Given the description of an element on the screen output the (x, y) to click on. 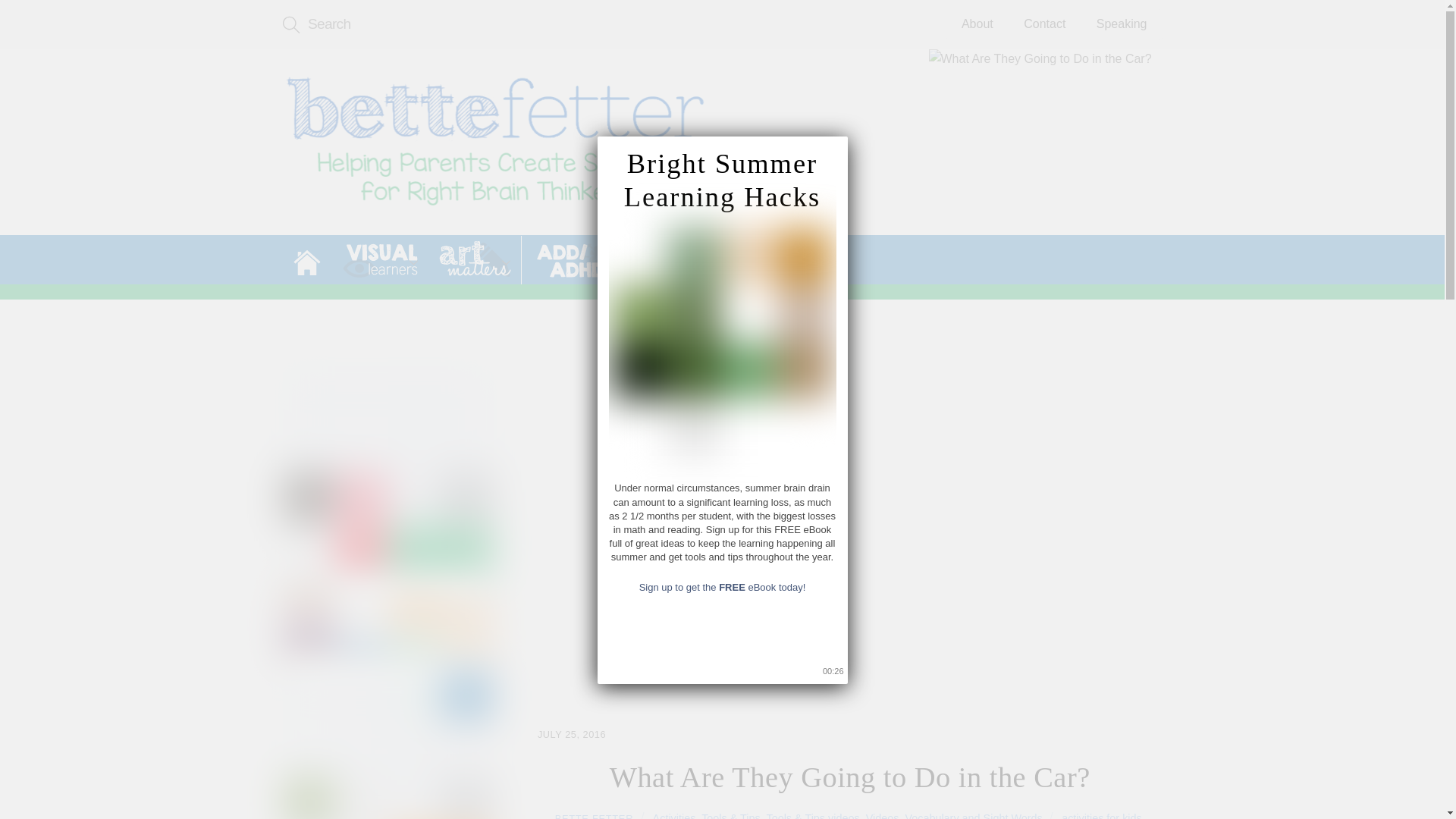
What Are They Going to Do in the Car? (1044, 162)
About (977, 24)
About Contact Speaking (1053, 24)
Contact (1044, 24)
Search (494, 24)
Speaking (1121, 24)
What Are They Going to Do in the Car? (494, 142)
